Given the description of an element on the screen output the (x, y) to click on. 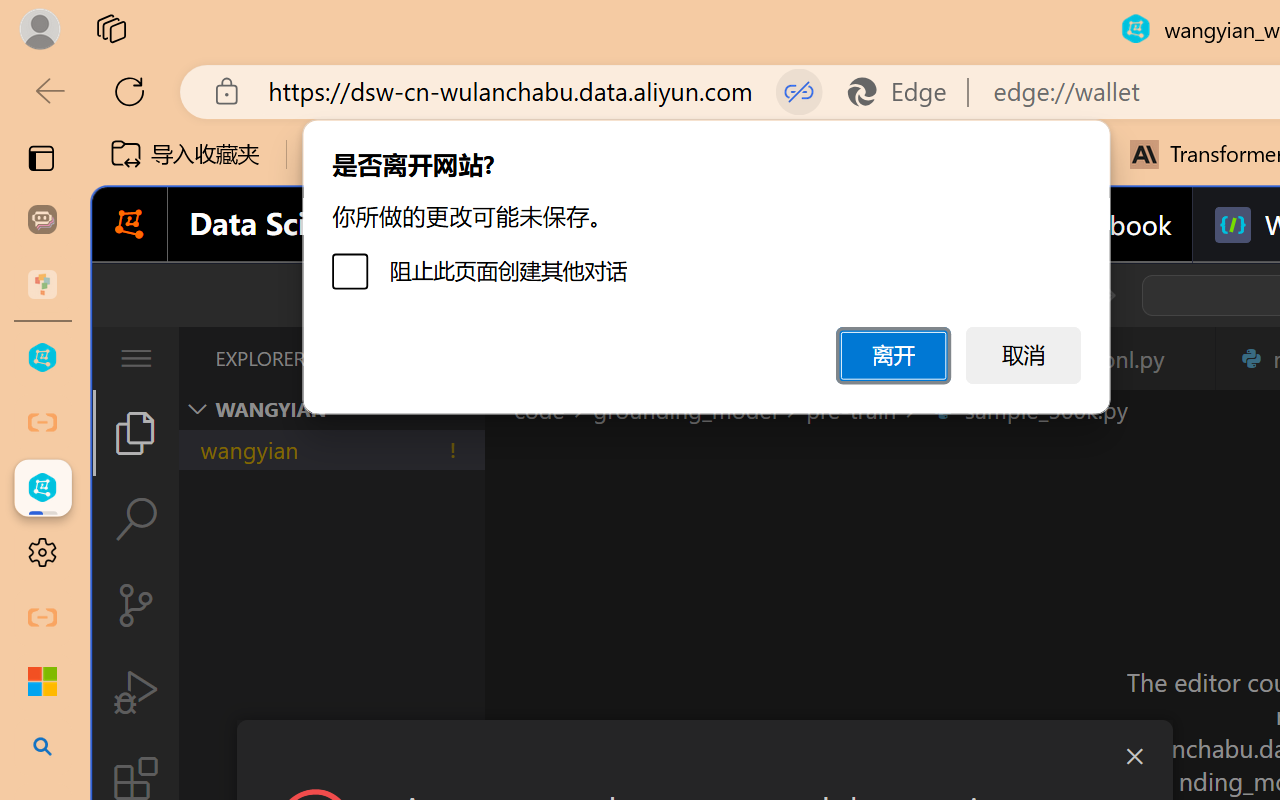
Close Dialog (1133, 756)
wangyian_dsw - DSW (42, 357)
wangyian_webcrawler - DSW (42, 487)
Class: actions-container (703, 756)
Class: menubar compact overflow-menu-only (135, 358)
